Given the description of an element on the screen output the (x, y) to click on. 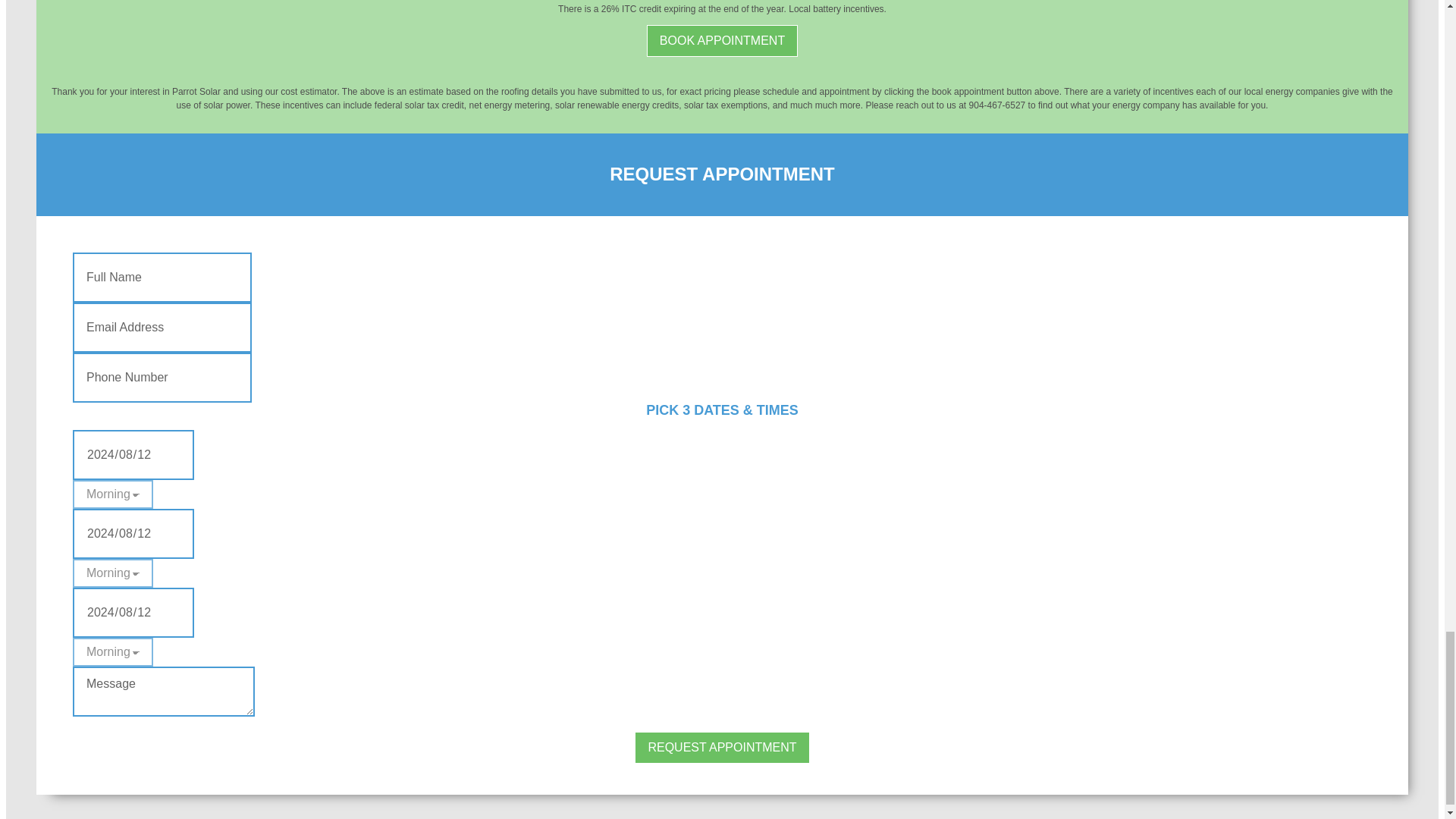
REQUEST APPOINTMENT (721, 747)
2024-08-12 (132, 533)
BOOK APPOINTMENT (721, 40)
2024-08-12 (132, 454)
2024-08-12 (132, 613)
